Given the description of an element on the screen output the (x, y) to click on. 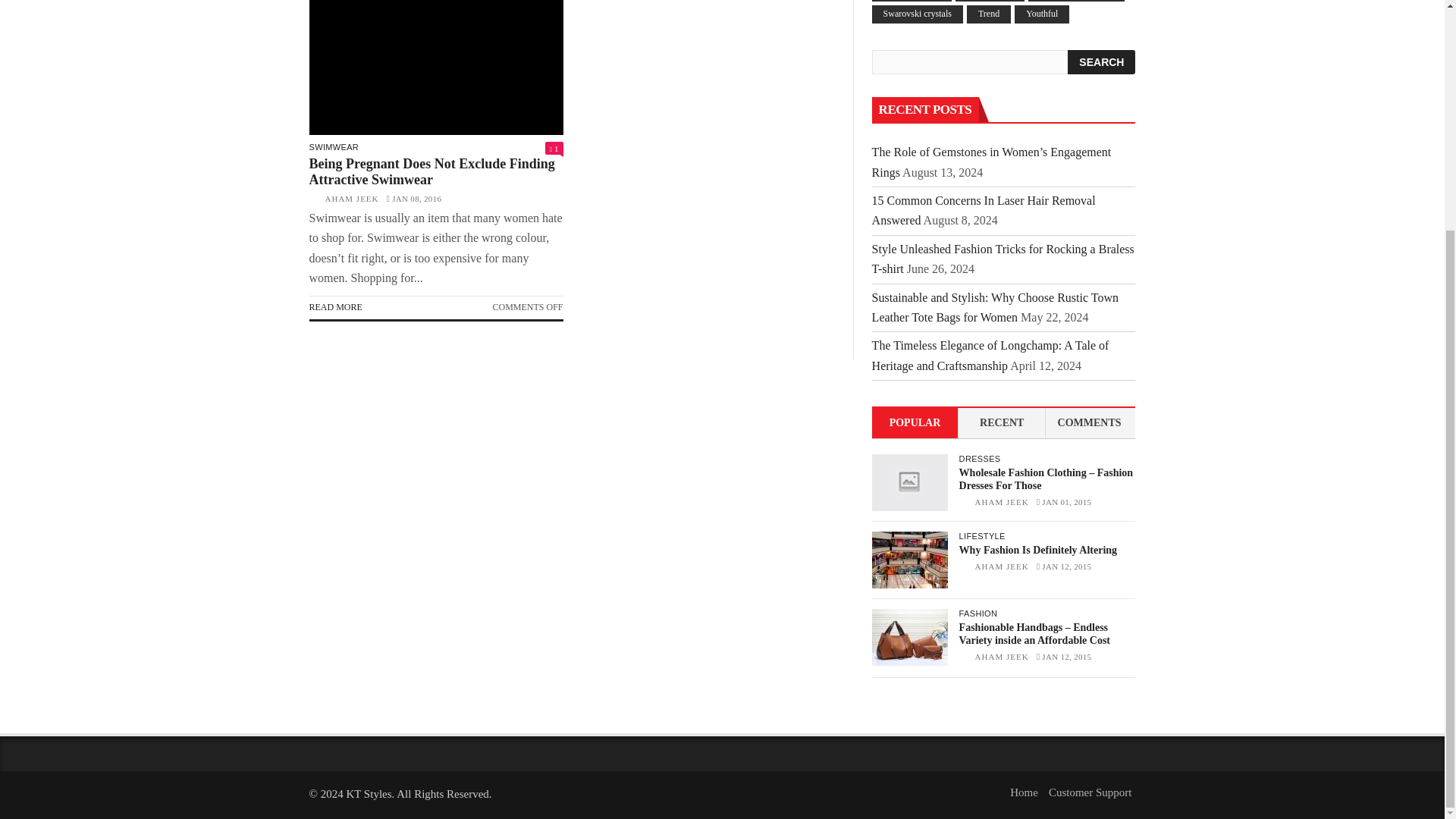
SWIMWEAR (333, 147)
Posts by Aham Jeek (1002, 655)
Swarovski converse (1075, 1)
Posts by Aham Jeek (1002, 501)
Posts by Aham Jeek (351, 198)
Like (554, 148)
1 (554, 148)
Being Pregnant Does Not Exclude Finding Attractive Swimwear (435, 67)
Search (1101, 61)
AHAM JEEK (351, 198)
